Given the description of an element on the screen output the (x, y) to click on. 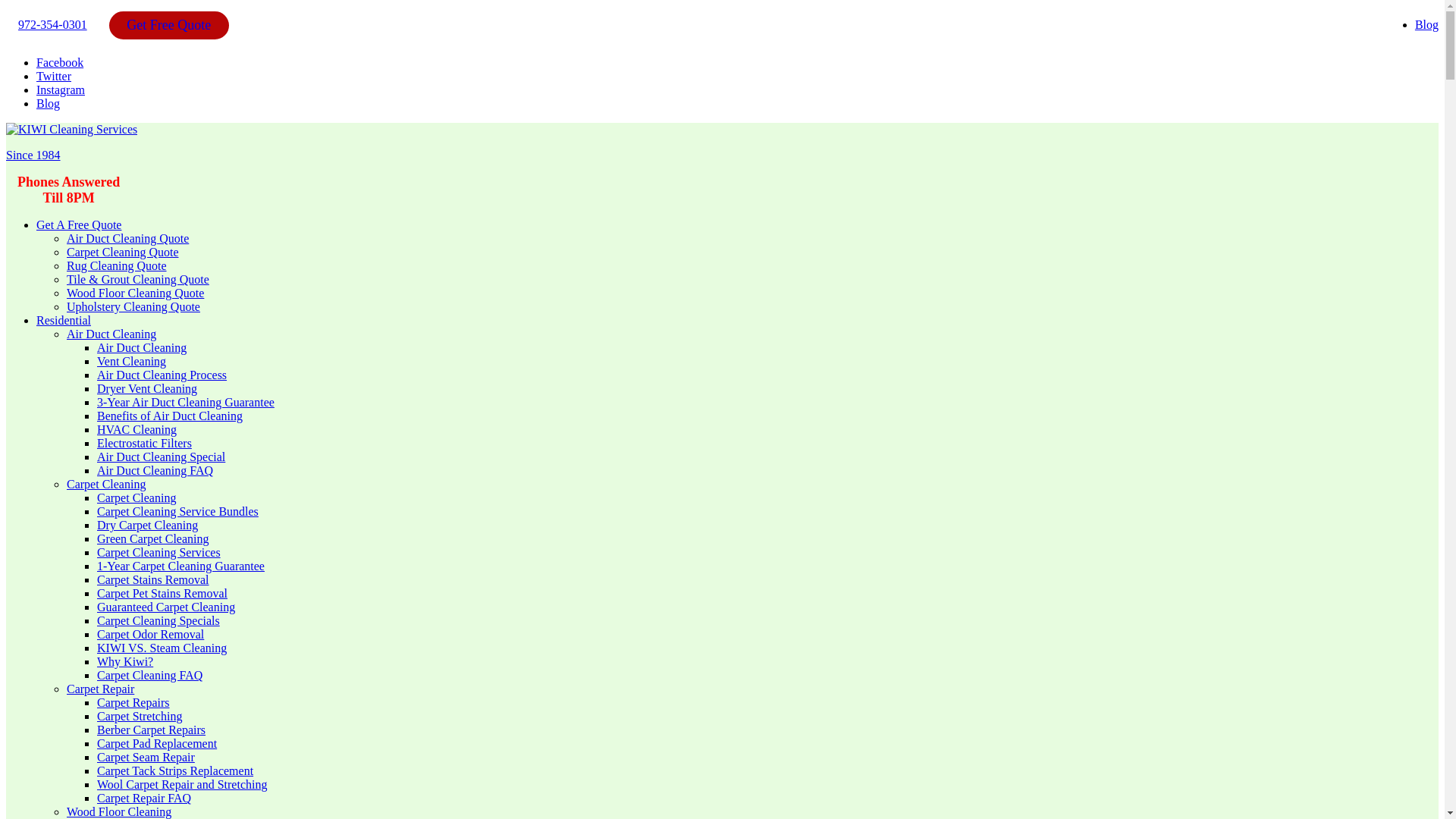
KIWI Cleaning Services (70, 129)
Air Duct Cleaning (110, 333)
Carpet Cleaning Service Bundles (178, 511)
Guaranteed Carpet Cleaning (165, 606)
Facebook (59, 62)
KIWI VS. Steam Cleaning (162, 647)
Electrostatic Filters (144, 442)
Residential (63, 319)
Benefits of Air Duct Cleaning (170, 415)
Carpet Cleaning Specials (158, 620)
